Given the description of an element on the screen output the (x, y) to click on. 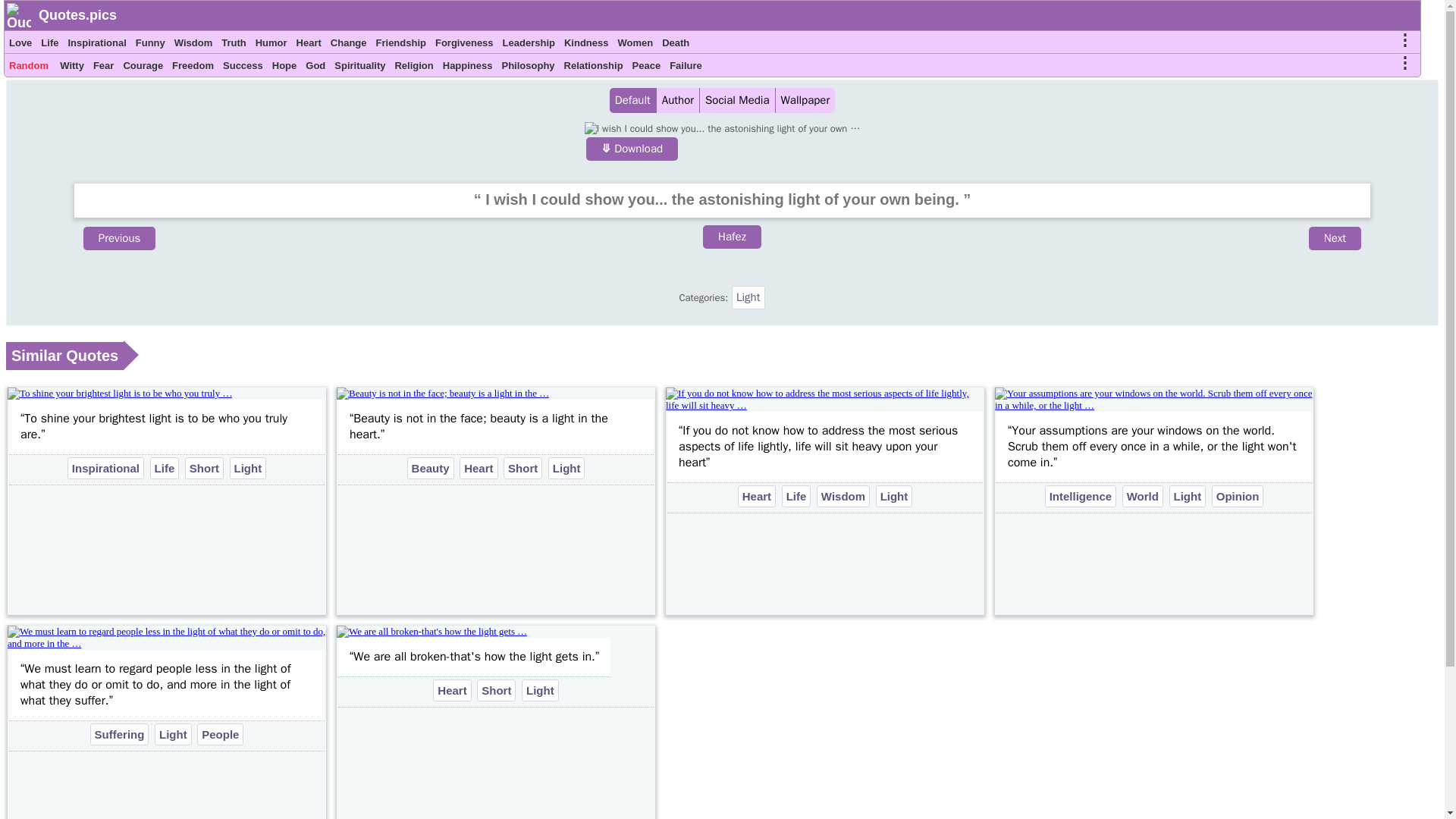
Heart (309, 45)
Success (242, 67)
Forgiveness (464, 45)
Death (675, 45)
Life (49, 45)
God (315, 67)
Kindness (586, 45)
Freedom (192, 67)
Fear (103, 67)
Happiness (468, 67)
Wisdom (193, 45)
Truth (233, 45)
Witty (71, 67)
Funny (150, 45)
Humor (270, 45)
